Given the description of an element on the screen output the (x, y) to click on. 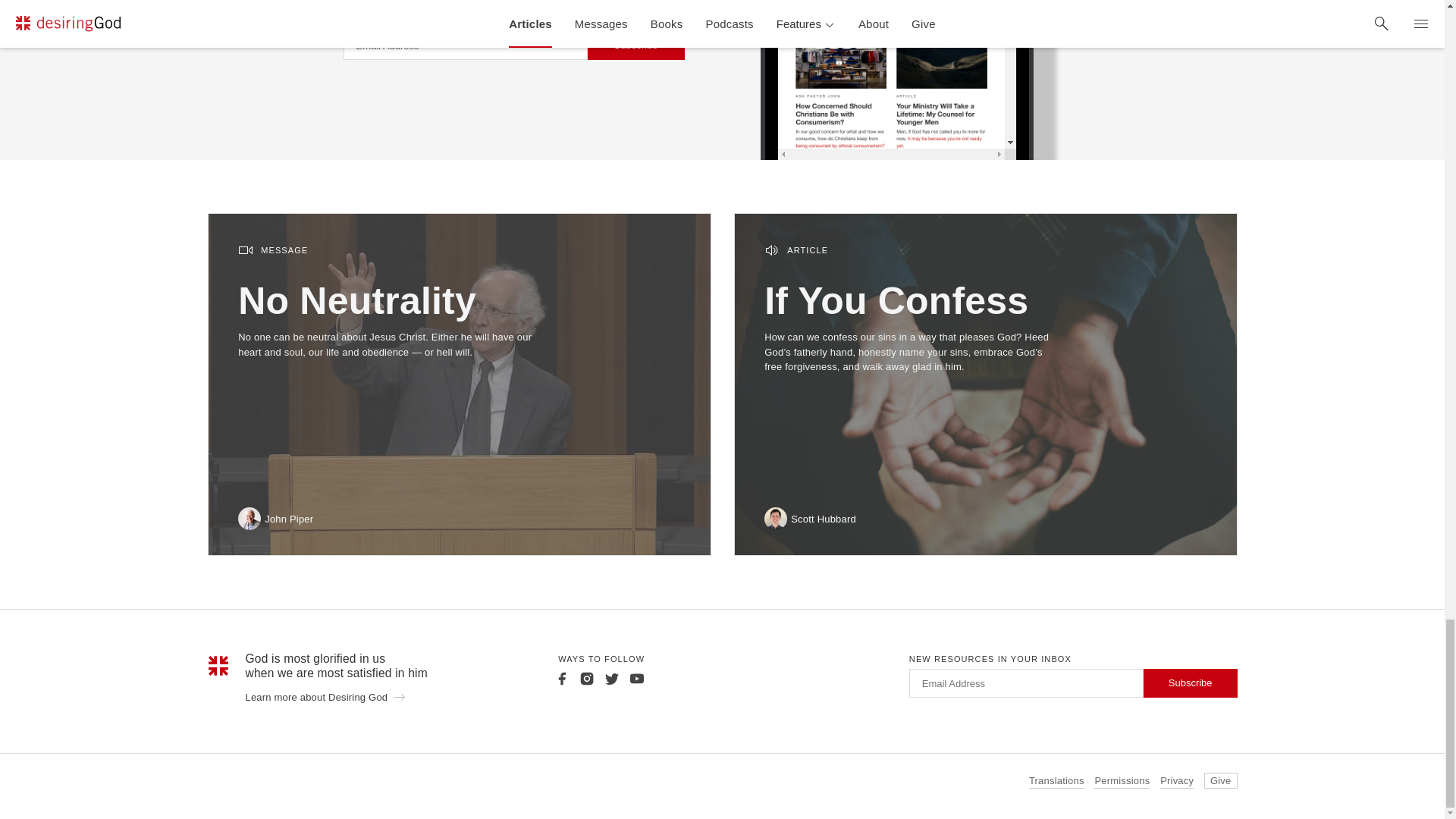
Mark - Large (218, 665)
Arrow (399, 696)
Twitter (612, 678)
